Given the description of an element on the screen output the (x, y) to click on. 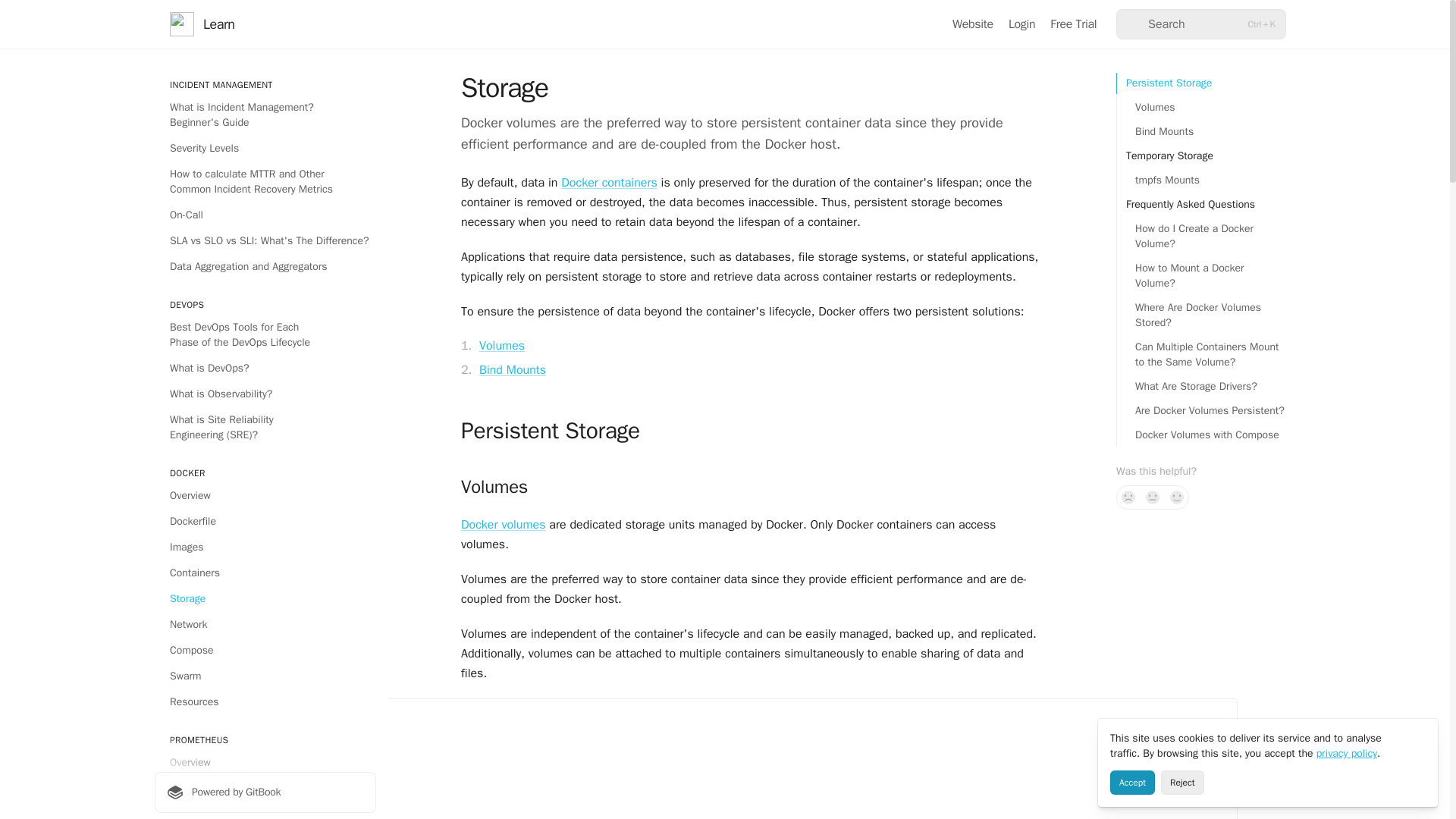
Learn (202, 24)
Compose (264, 650)
Containers (264, 573)
Network (264, 624)
Storage (264, 598)
On-Call (264, 215)
Yes, it was! (1176, 497)
Best DevOps Tools for Each Phase of the DevOps Lifecycle (264, 334)
SLA vs SLO vs SLI: What's The Difference? (264, 241)
Dockerfile (264, 521)
Free Trial (1072, 24)
Data Aggregation and Aggregators (264, 266)
What is Observability? (264, 394)
Images (264, 547)
